Given the description of an element on the screen output the (x, y) to click on. 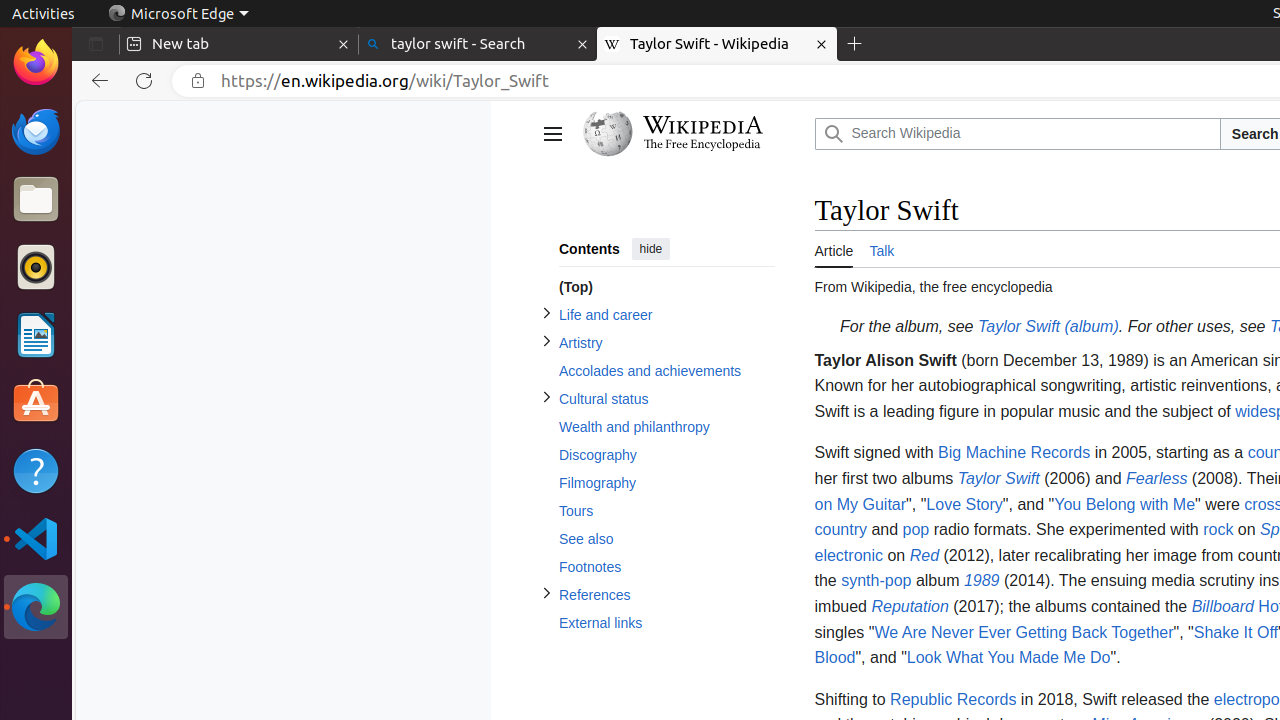
See also Element type: link (666, 539)
Toggle References subsection Element type: push-button (546, 593)
Footnotes Element type: link (666, 567)
Taylor Swift Element type: link (998, 478)
Accolades and achievements Element type: link (666, 371)
